Given the description of an element on the screen output the (x, y) to click on. 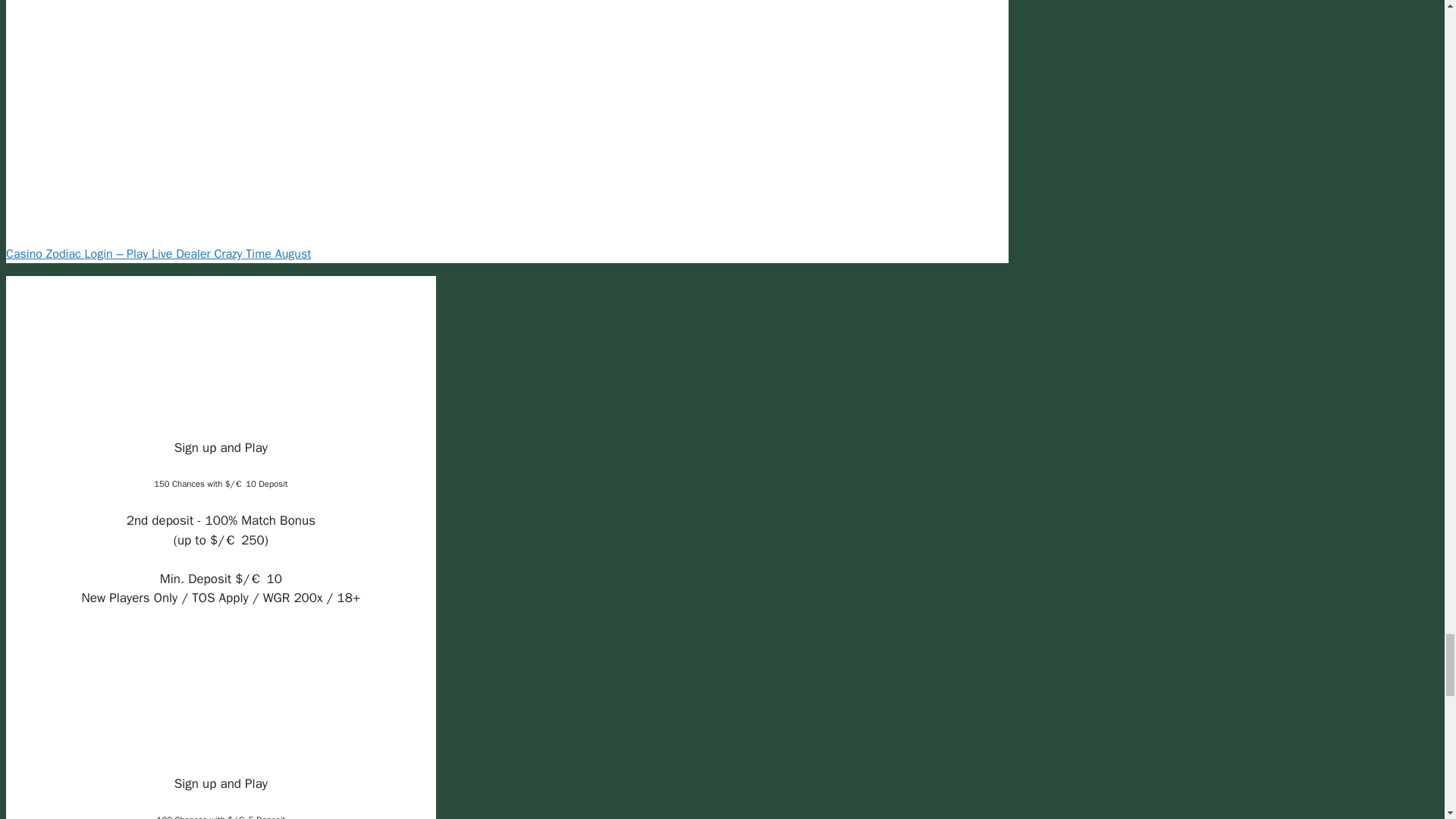
Next (158, 253)
